Given the description of an element on the screen output the (x, y) to click on. 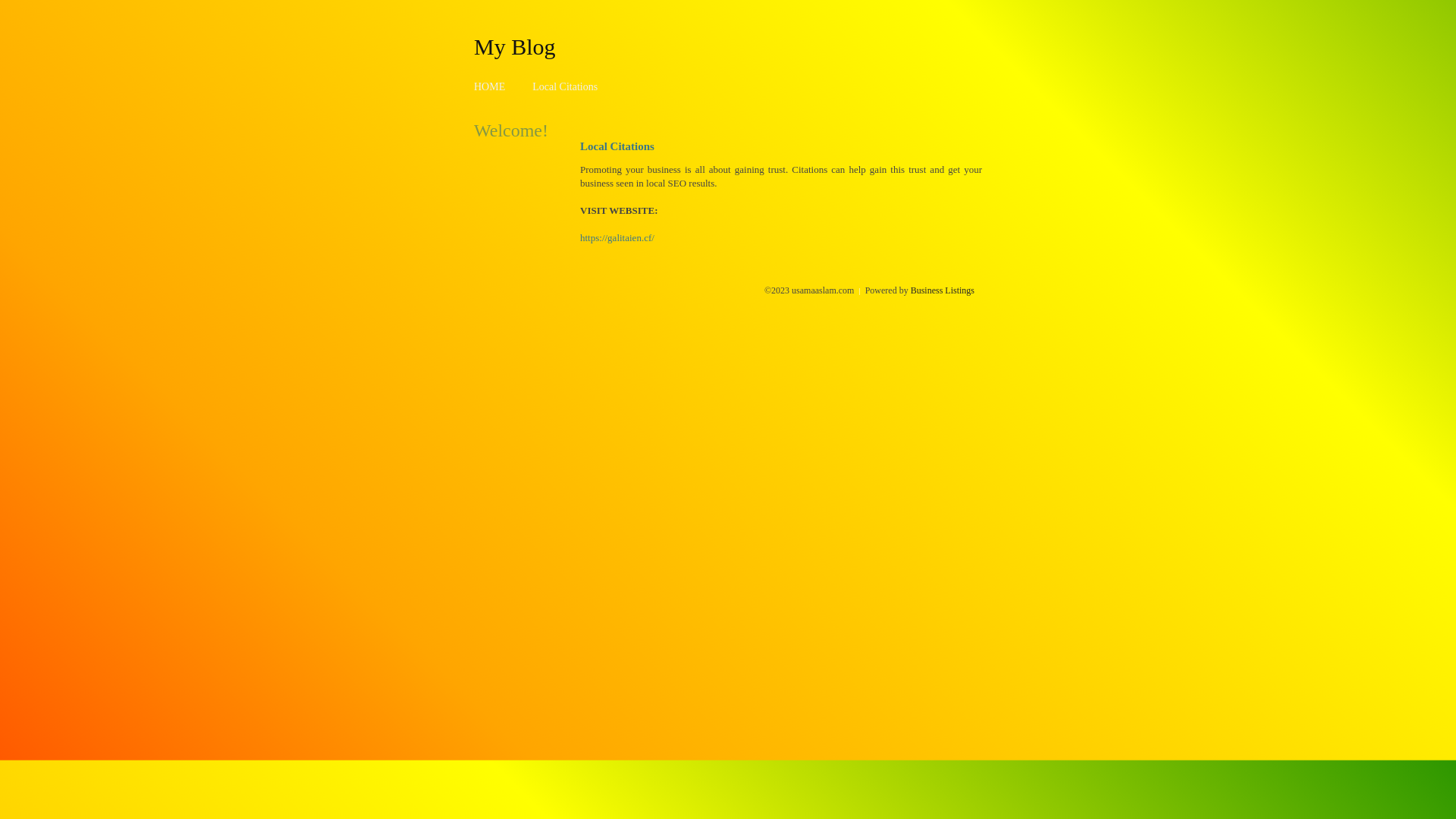
https://galitaien.cf/ Element type: text (617, 237)
HOME Element type: text (489, 86)
Business Listings Element type: text (942, 290)
My Blog Element type: text (514, 46)
Local Citations Element type: text (564, 86)
